Given the description of an element on the screen output the (x, y) to click on. 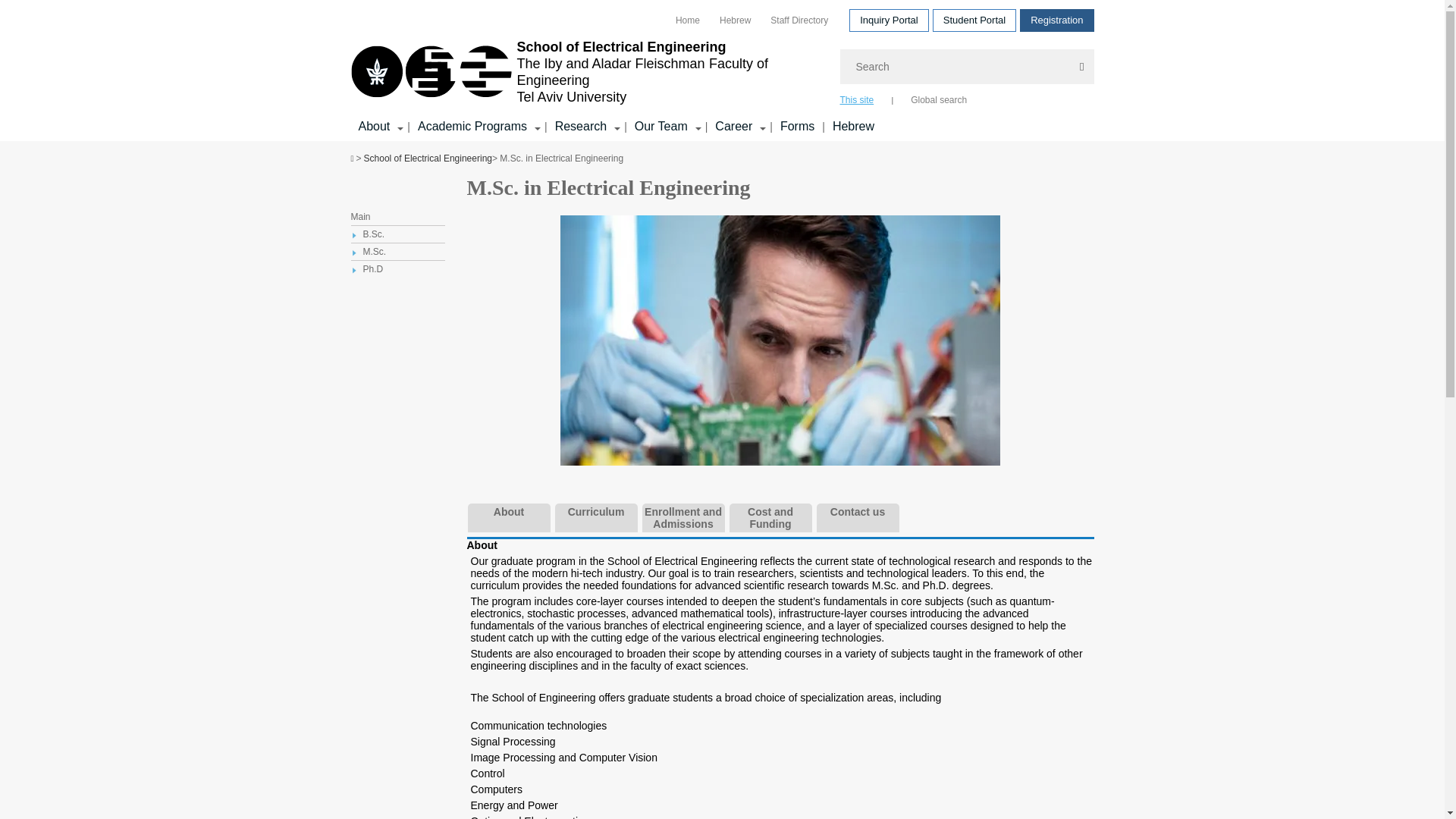
Registration (1056, 20)
Hebrew (735, 19)
MSc EE (780, 340)
Academic Programs (472, 126)
Visit Student Portal (974, 20)
Our Team (660, 126)
Student Portal (974, 20)
Visit Registration (1056, 20)
About (374, 126)
